Given the description of an element on the screen output the (x, y) to click on. 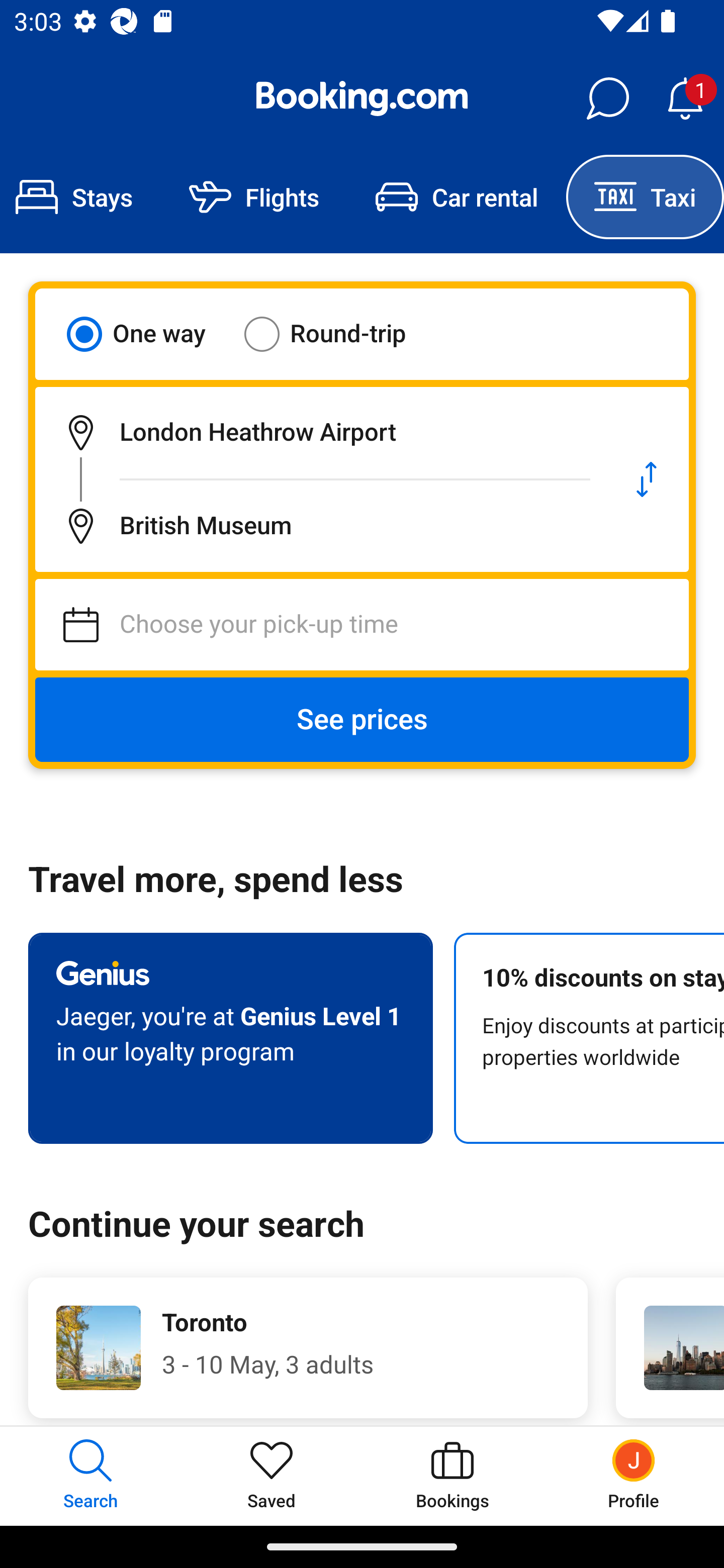
Messages (607, 98)
Notifications (685, 98)
Stays (80, 197)
Flights (253, 197)
Car rental (456, 197)
Taxi (645, 197)
Round-trip (337, 333)
Pick-up location: London Heathrow Airport (319, 432)
Swap pick-up location and destination (646, 479)
Destination: British Museum (319, 525)
Choose your pick-up time (361, 624)
See prices (361, 719)
Toronto 3 - 10 May, 3 adults (307, 1347)
Saved (271, 1475)
Bookings (452, 1475)
Profile (633, 1475)
